Given the description of an element on the screen output the (x, y) to click on. 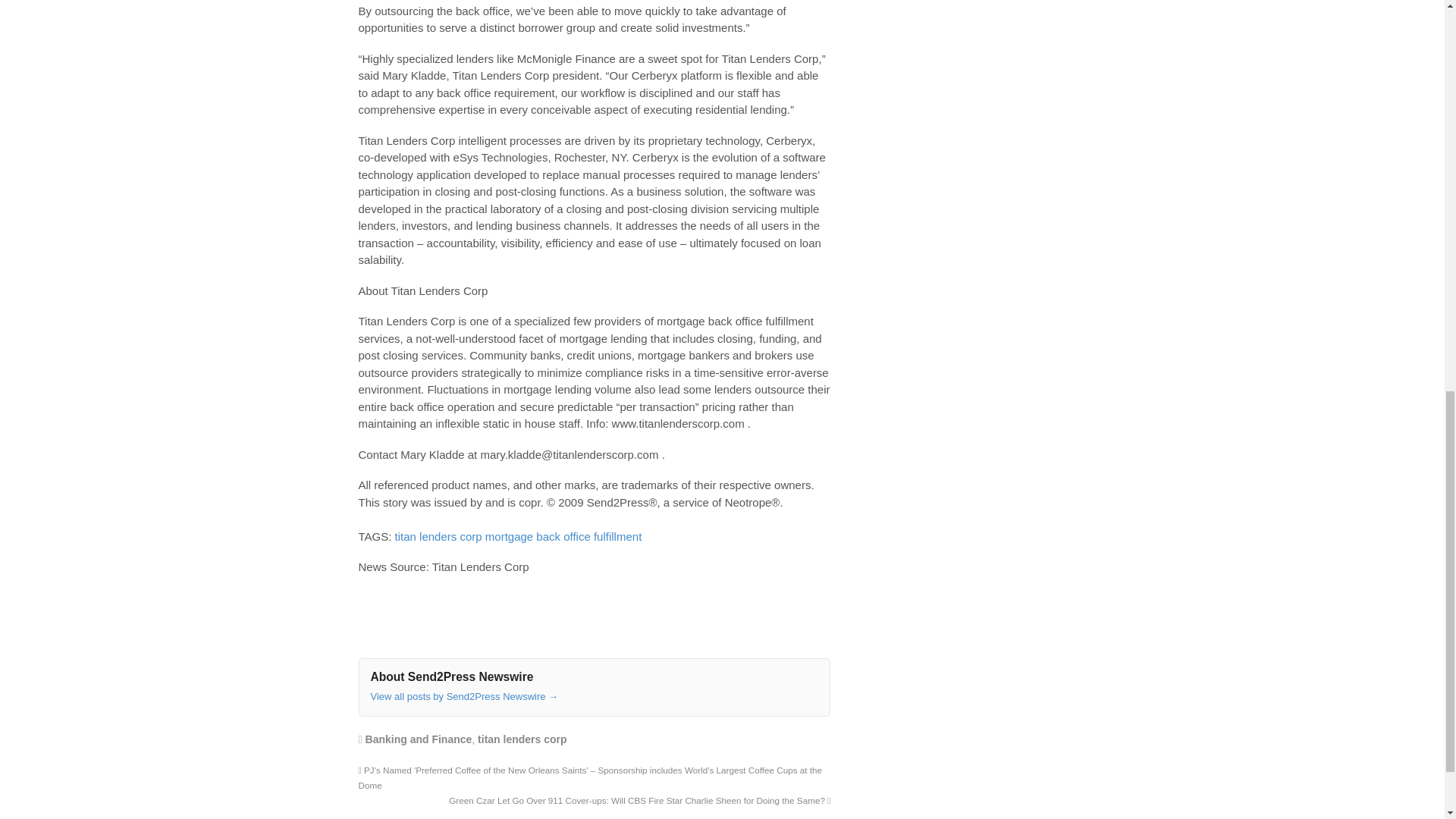
mortgage back office fulfillment (563, 535)
titan lenders corp (437, 535)
Banking and Finance (418, 739)
titan lenders corp (521, 739)
